Given the description of an element on the screen output the (x, y) to click on. 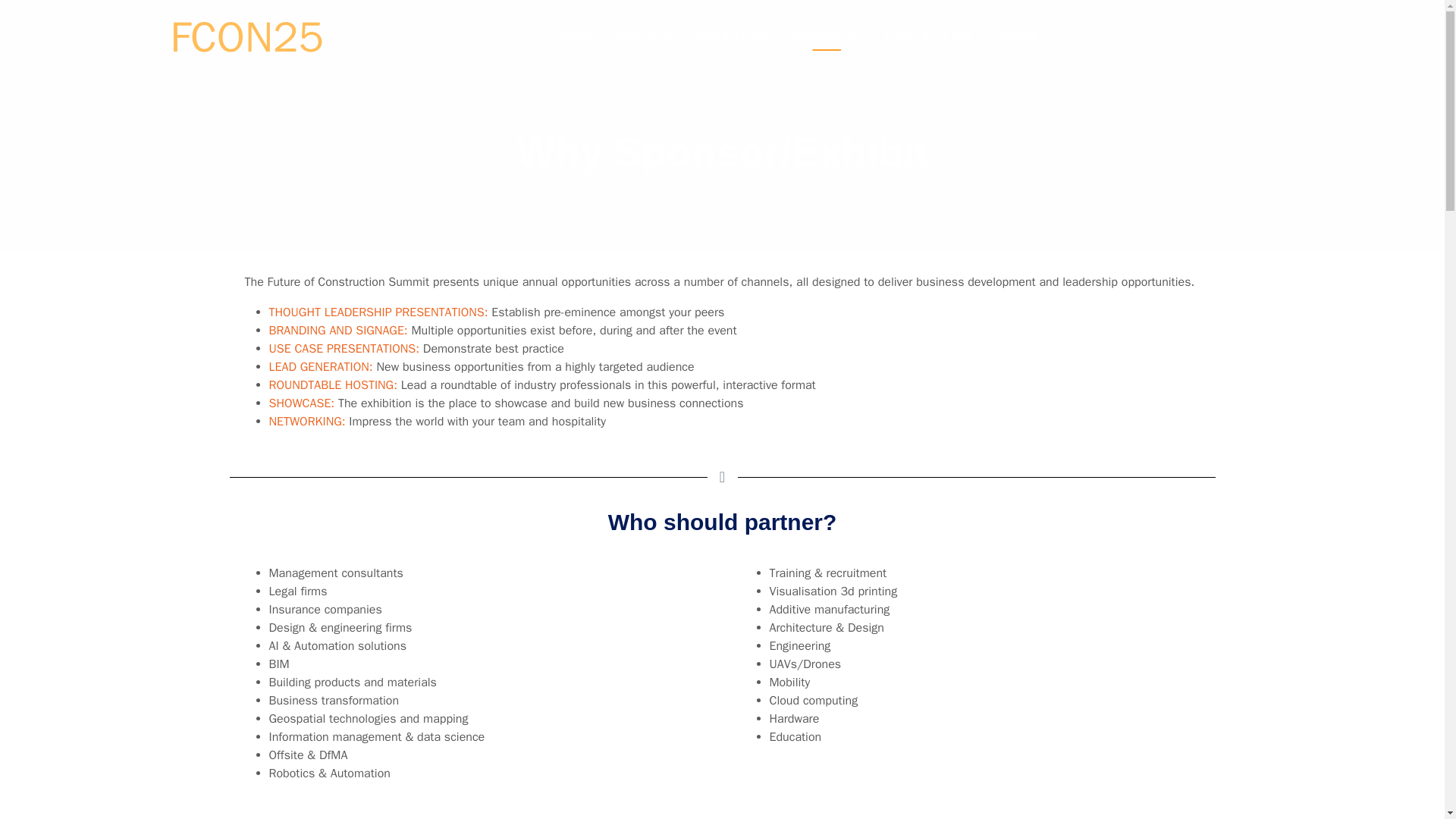
VENUE (1016, 36)
PARTNERS (826, 36)
FCON25 (244, 37)
HOME (572, 36)
SPEAKERS (731, 36)
CONTACT US (929, 36)
AGENDA (643, 36)
